Given the description of an element on the screen output the (x, y) to click on. 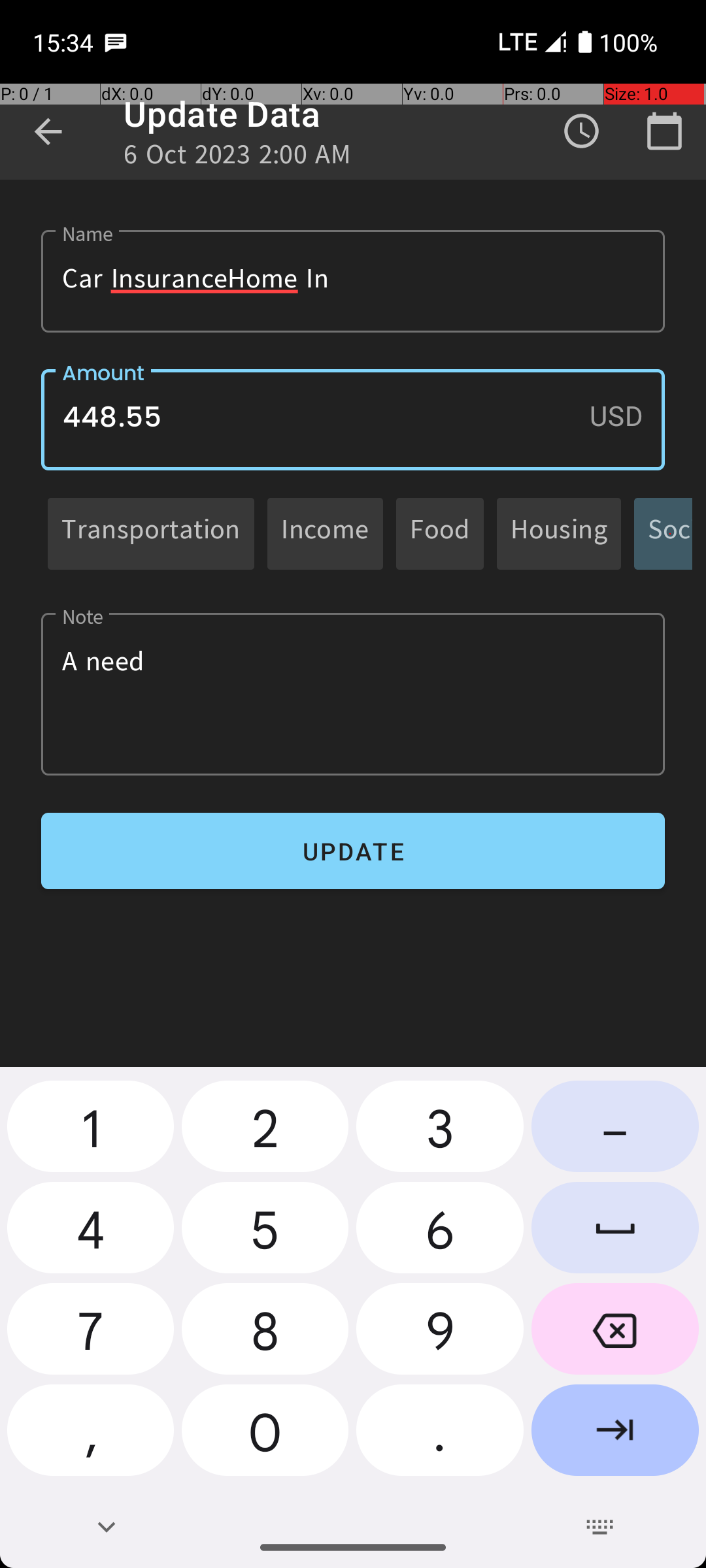
6 Oct 2023 2:00 AM Element type: android.widget.TextView (237, 157)
Car InsuranceHome In Element type: android.widget.EditText (352, 280)
448.55 Element type: android.widget.EditText (352, 419)
Transportation Element type: android.widget.TextView (150, 533)
